Given the description of an element on the screen output the (x, y) to click on. 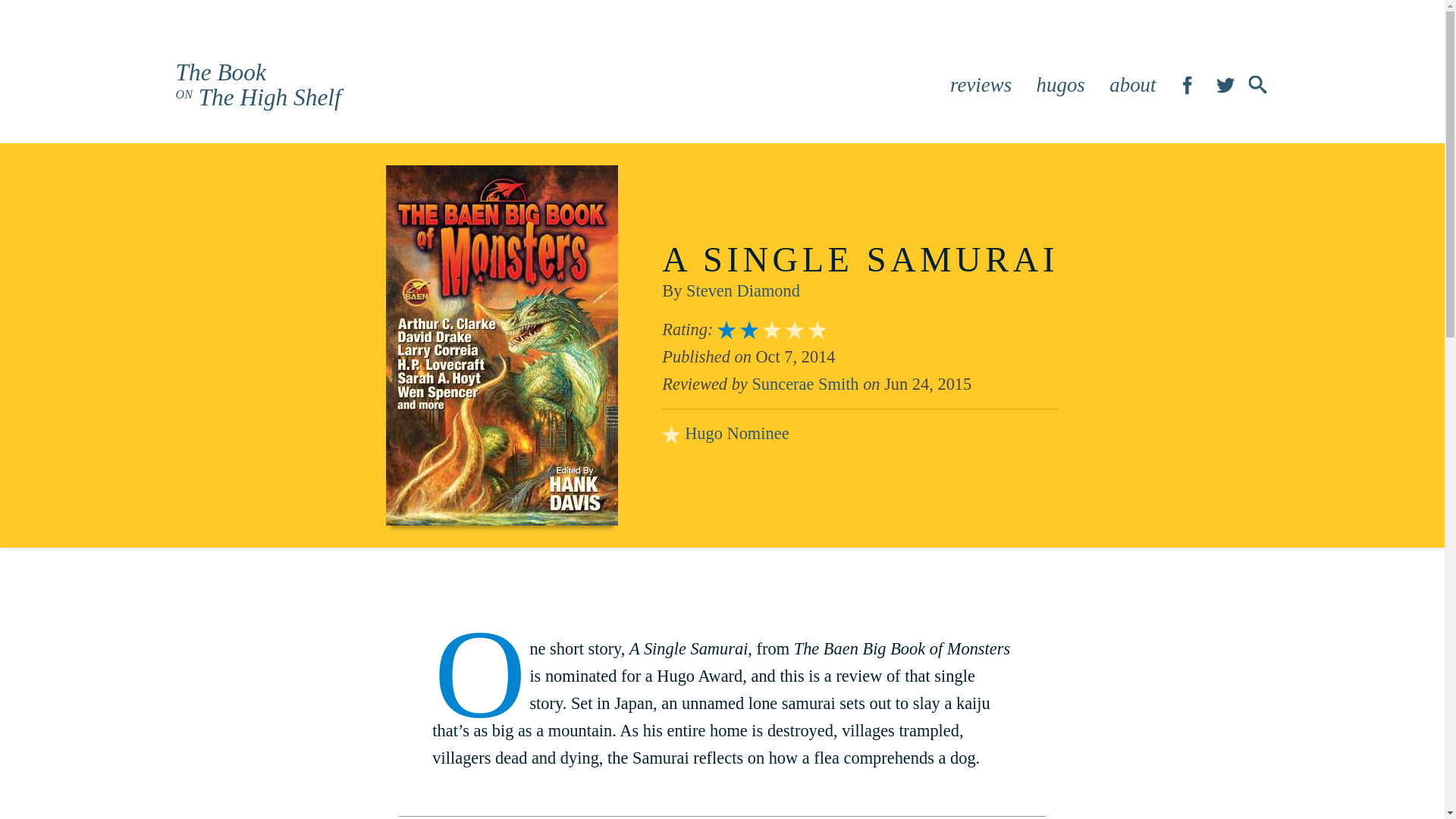
reviews (258, 84)
The Book on the High Shelf on Twitter (981, 84)
Posts by Suncerae Smith (1225, 84)
Hugo Nominee (805, 383)
Suncerae Smith (736, 433)
about (805, 383)
About (1132, 84)
Steven Diamond (1132, 84)
The Book on the High Shelf on Facebook (742, 290)
hugos (1187, 84)
